Given the description of an element on the screen output the (x, y) to click on. 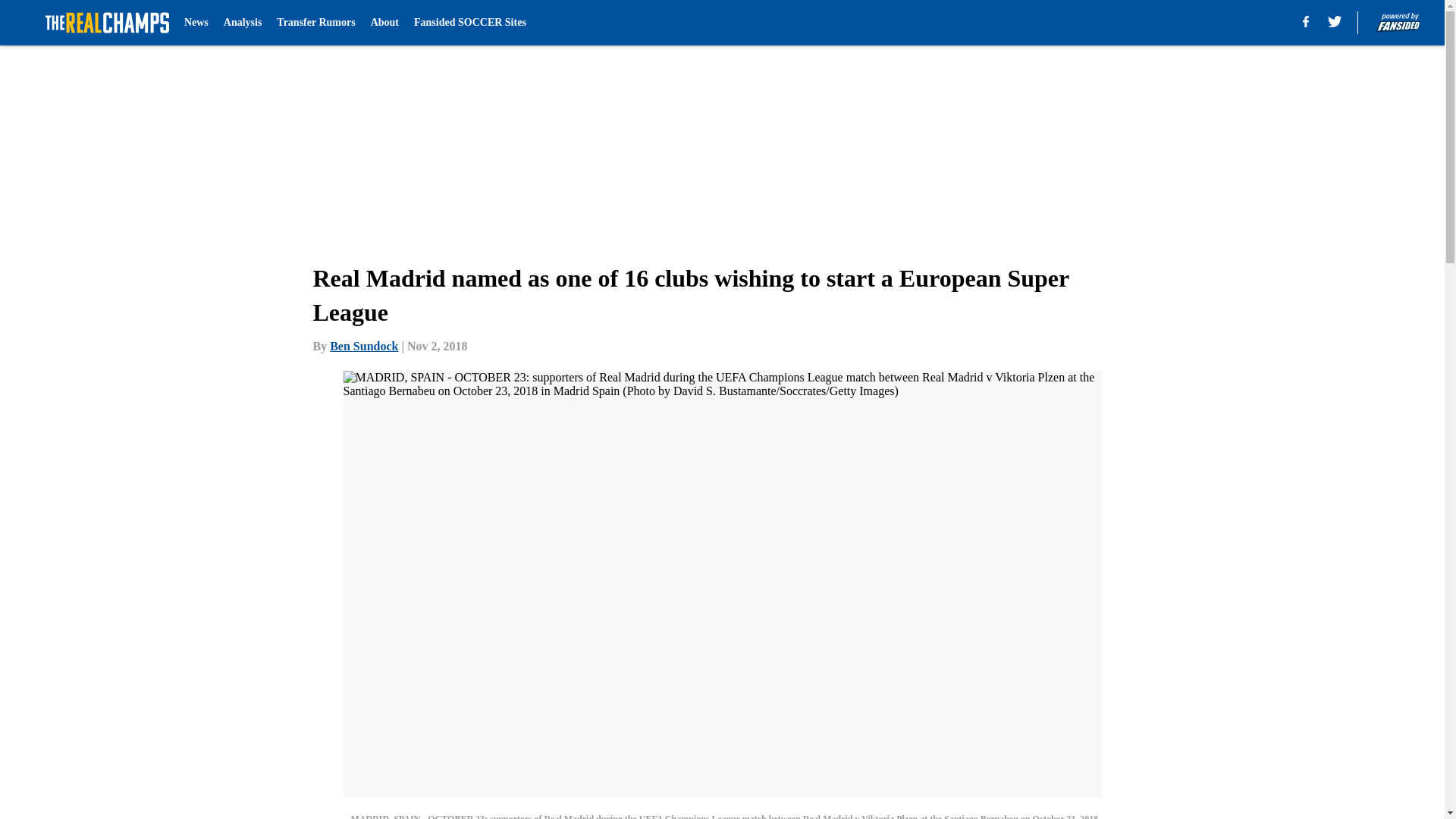
Ben Sundock (363, 345)
Fansided SOCCER Sites (469, 22)
Transfer Rumors (315, 22)
News (196, 22)
Analysis (243, 22)
About (384, 22)
